Given the description of an element on the screen output the (x, y) to click on. 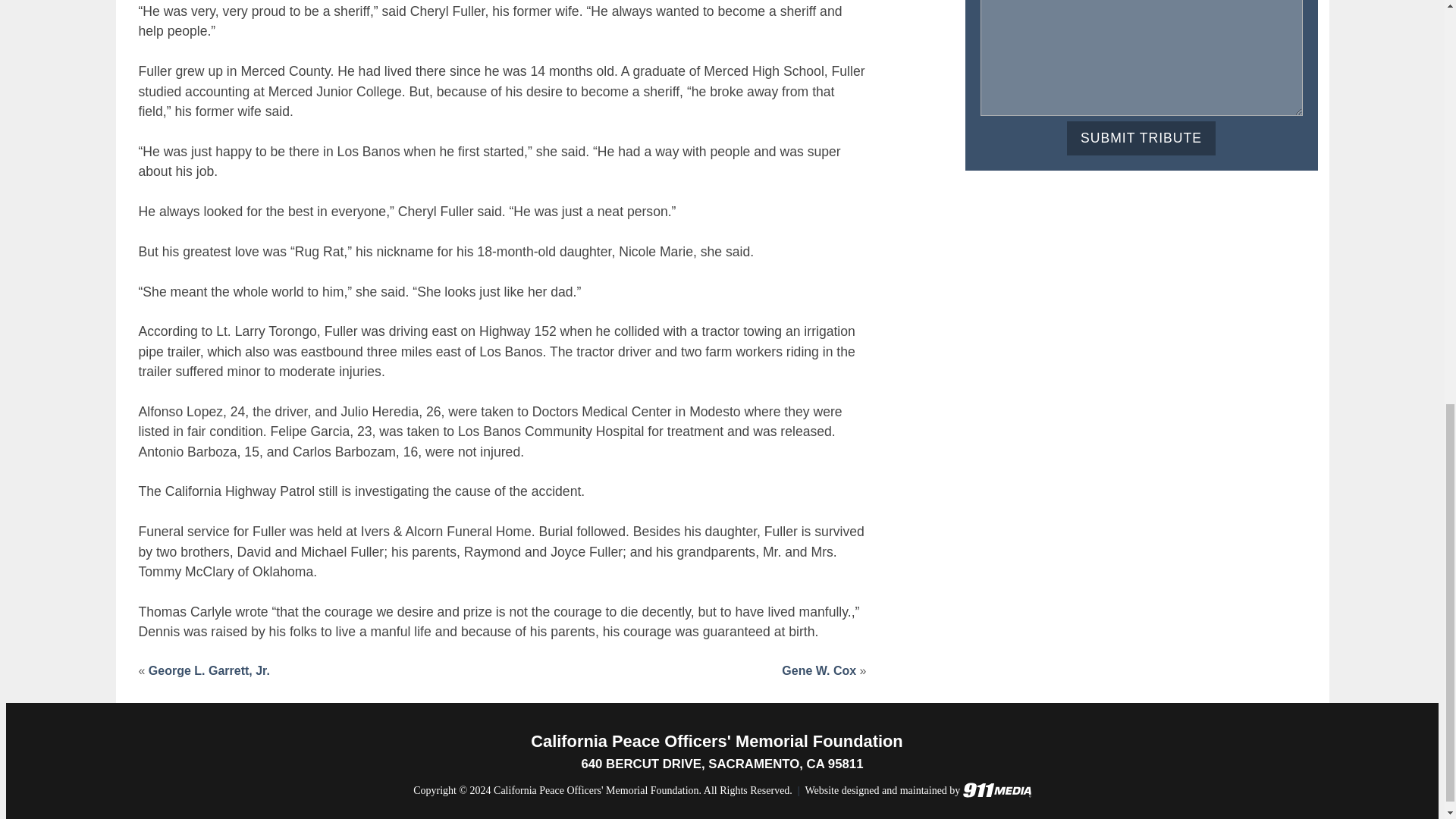
Gene W. Cox (818, 670)
George L. Garrett, Jr. (208, 670)
Submit Tribute (1140, 138)
Submit Tribute (1140, 138)
